Given the description of an element on the screen output the (x, y) to click on. 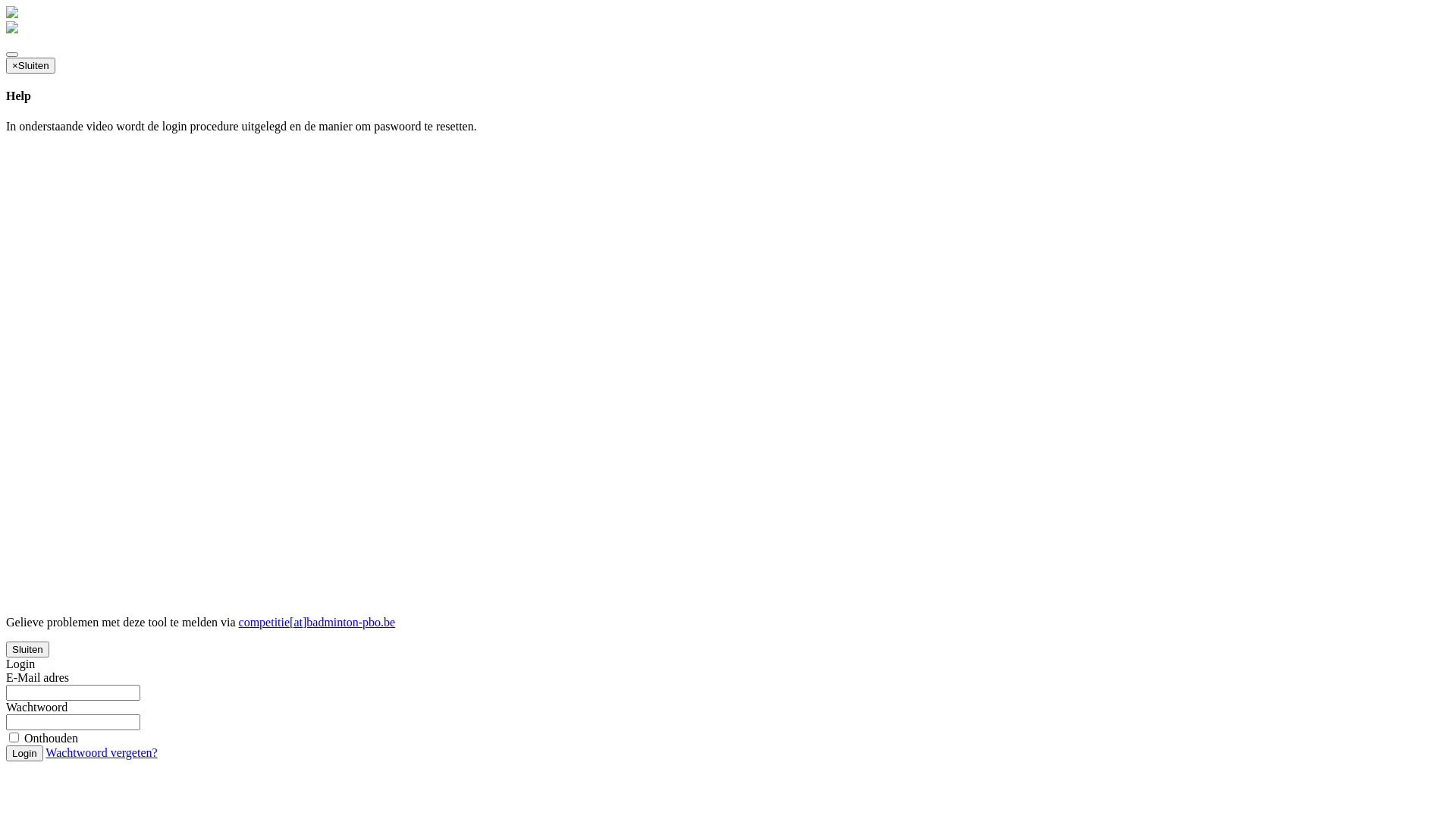
Wachtwoord vergeten? Element type: text (100, 752)
Sluiten Element type: text (27, 649)
Login Element type: text (24, 753)
competitie[at]badminton-pbo.be Element type: text (316, 621)
